Given the description of an element on the screen output the (x, y) to click on. 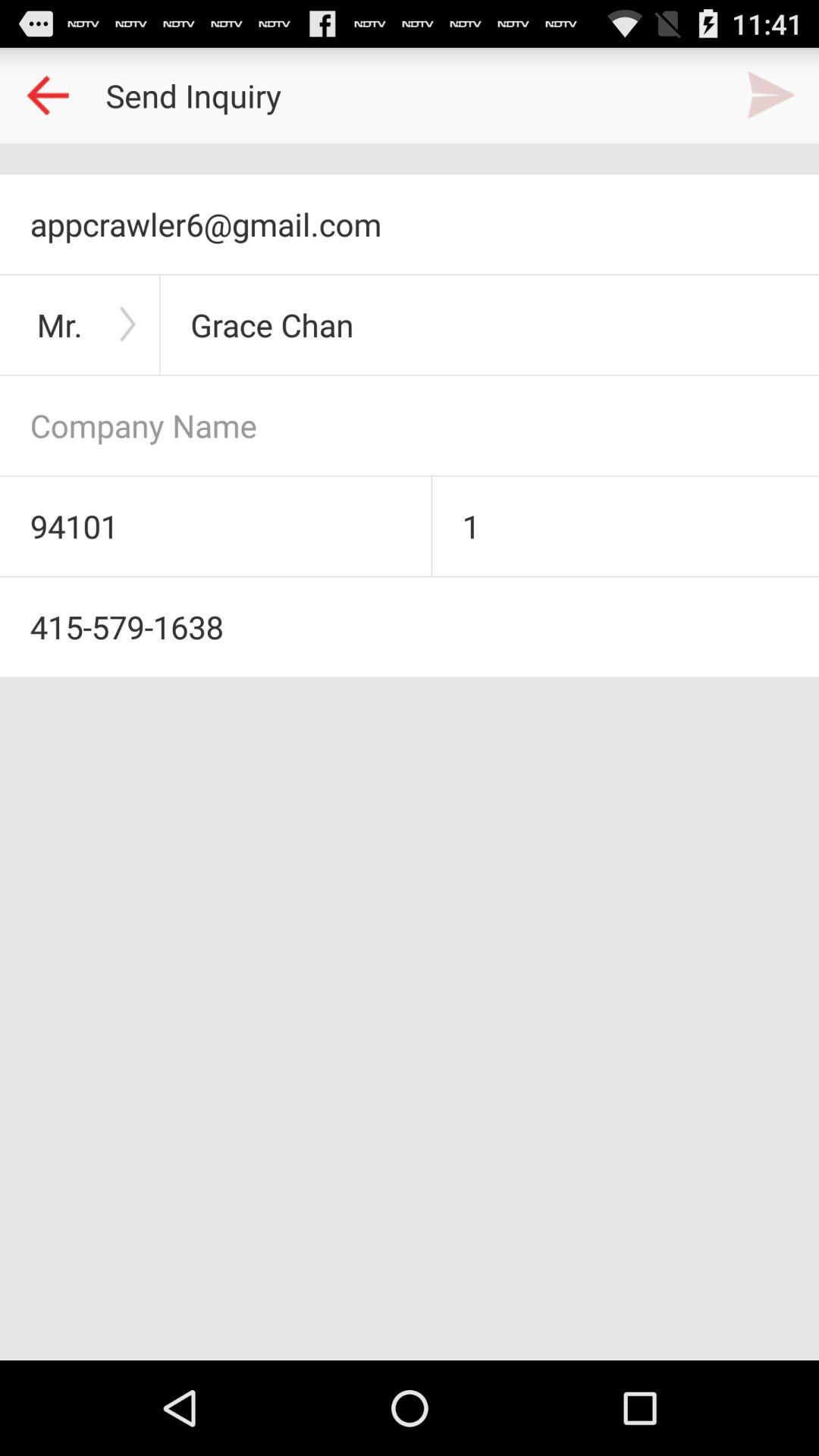
send inquiry (771, 95)
